Given the description of an element on the screen output the (x, y) to click on. 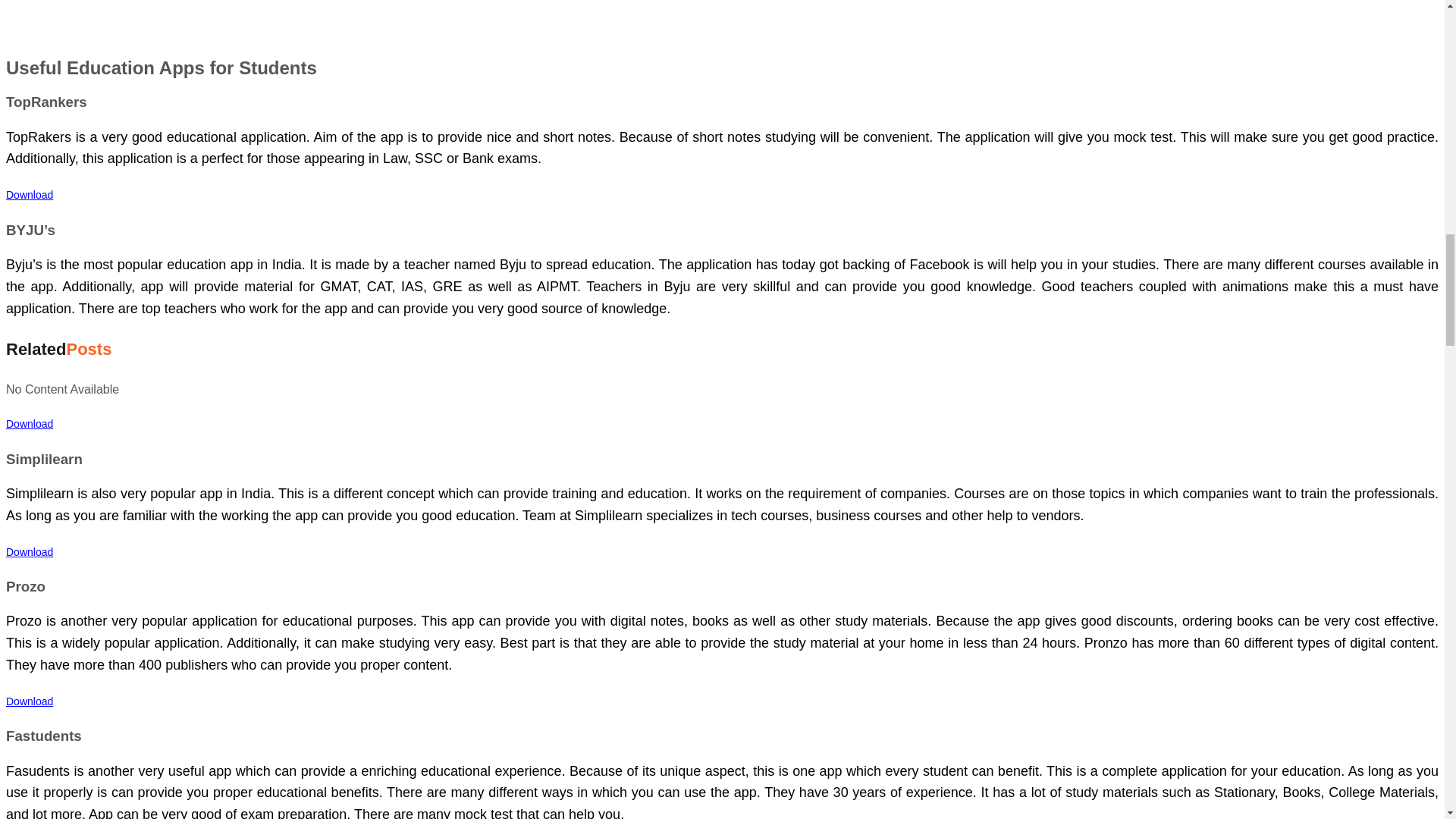
Download (28, 551)
Download (28, 423)
Download (28, 194)
Download (28, 701)
